Given the description of an element on the screen output the (x, y) to click on. 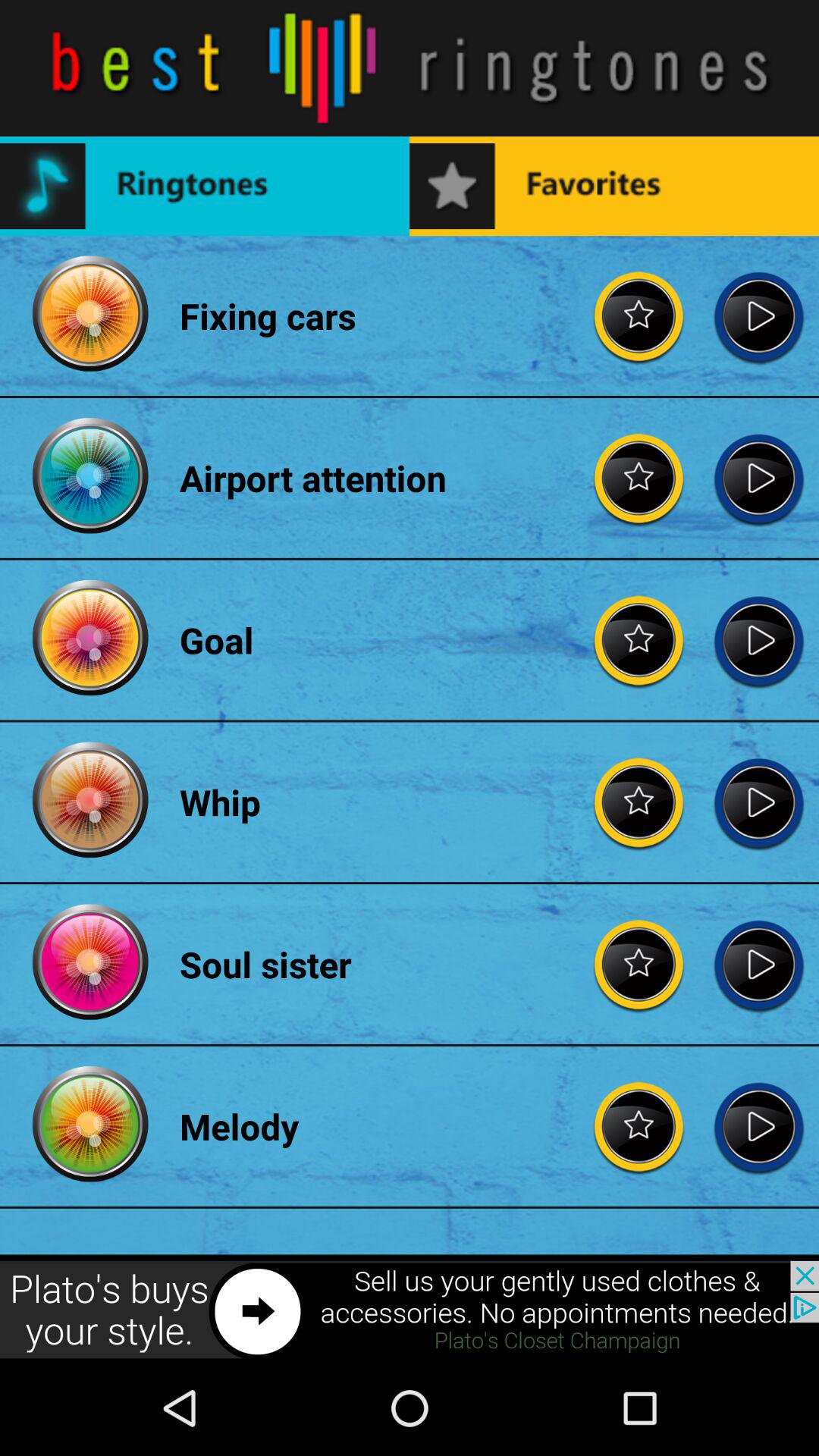
play song (758, 801)
